Given the description of an element on the screen output the (x, y) to click on. 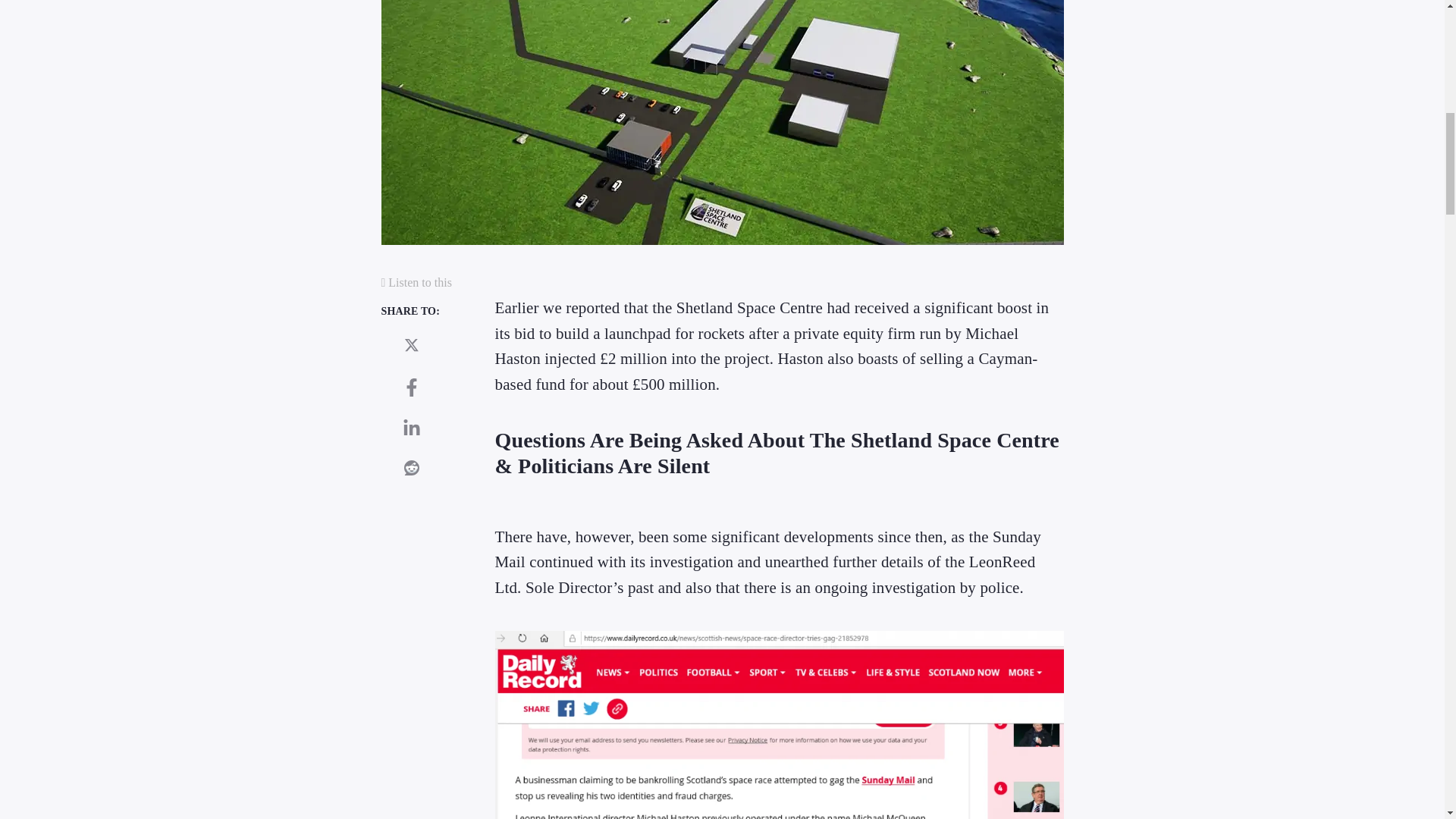
Share on Facebook (411, 387)
Tweet this! (411, 345)
